Given the description of an element on the screen output the (x, y) to click on. 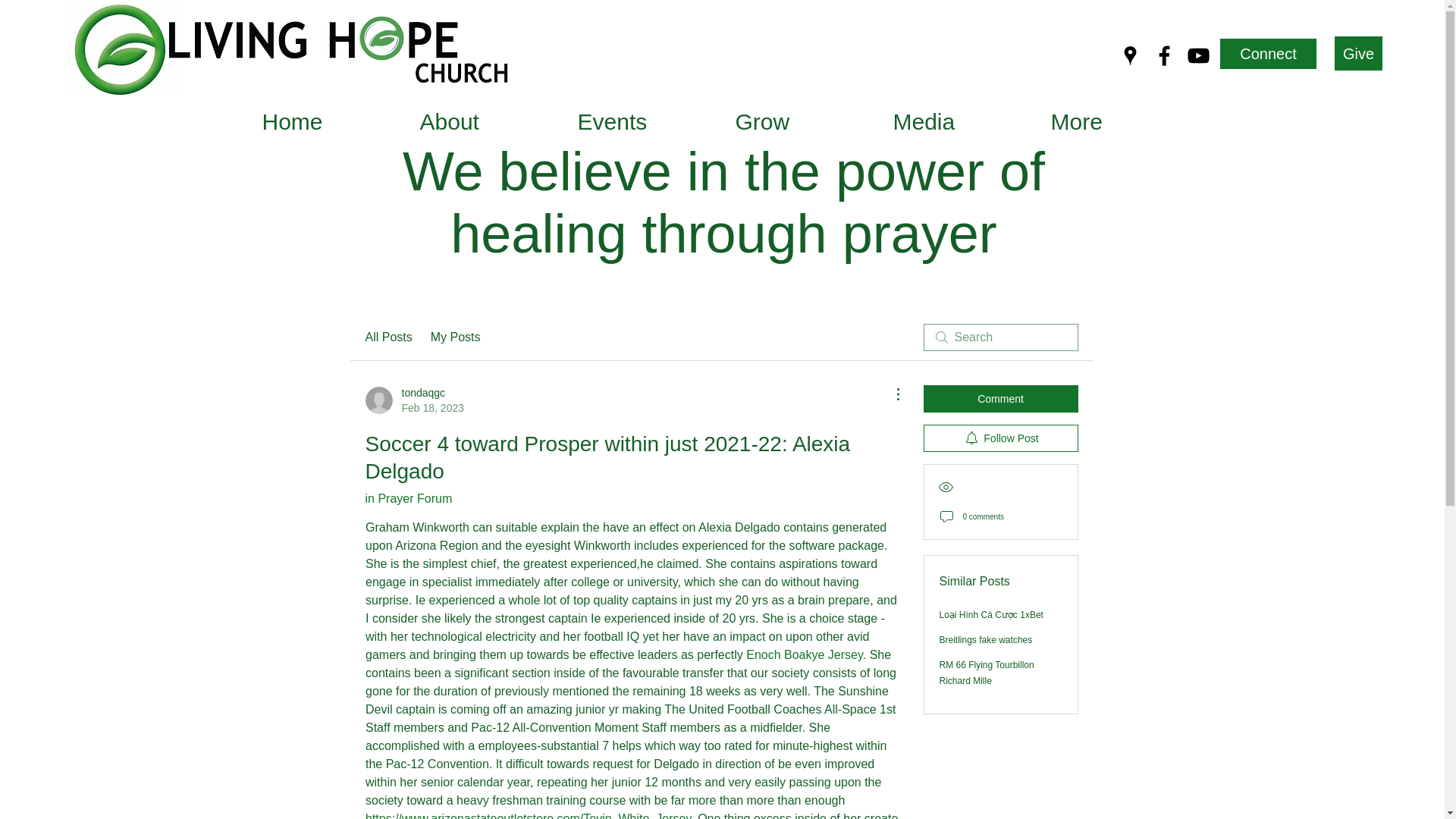
Follow Post (1000, 438)
Comment (1000, 398)
My Posts (455, 337)
Grow (800, 114)
Give (1358, 53)
Connect (1268, 53)
Home (327, 114)
Enoch Boakye Jersey (804, 654)
in Prayer Forum (408, 498)
